Given the description of an element on the screen output the (x, y) to click on. 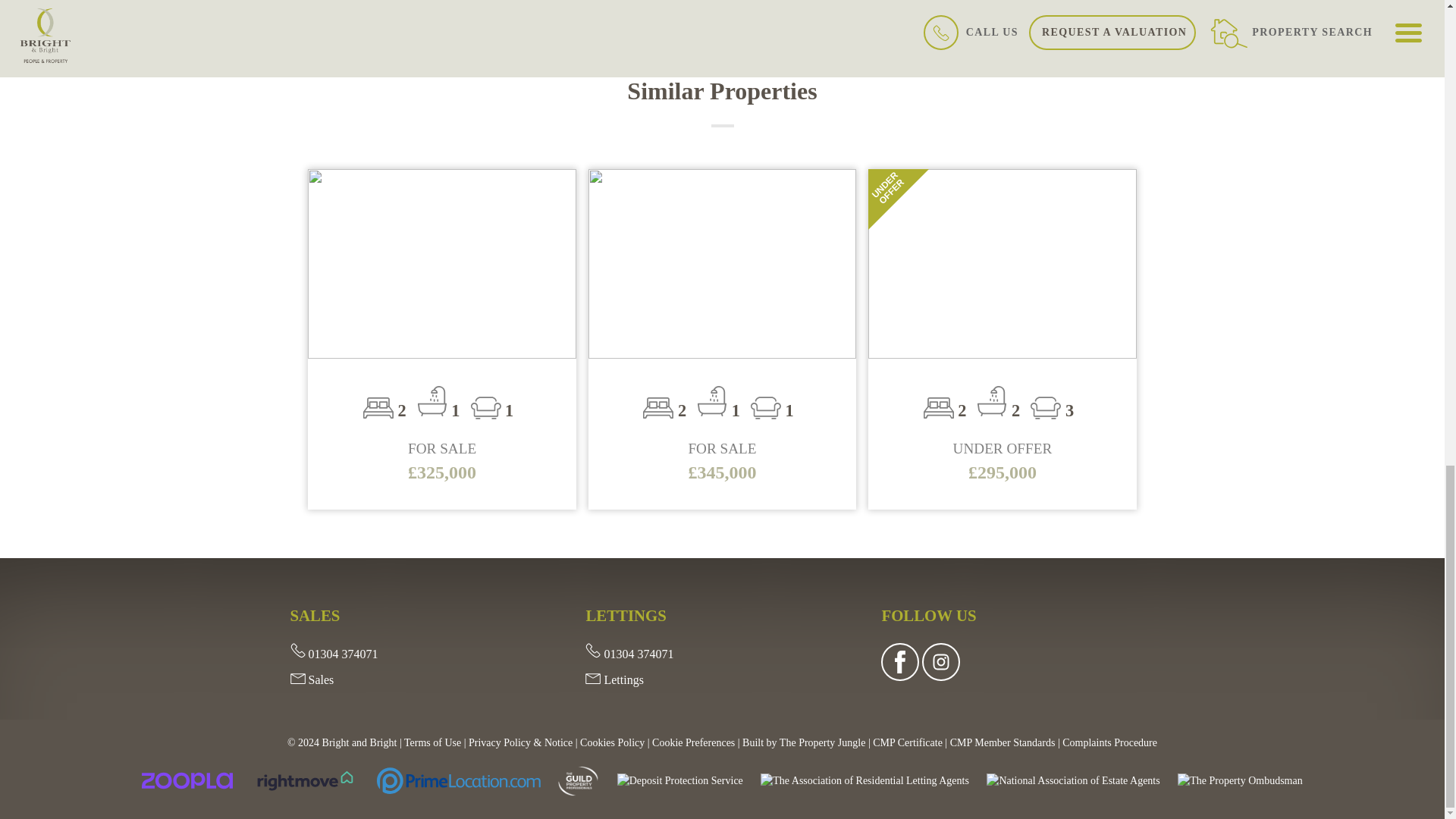
01304 374071 (333, 653)
Privacy Policy (520, 742)
REGISTER FOR PROPERTY UPDATES (1054, 16)
Sales (311, 679)
Terms of Use (432, 742)
01304 374071 (628, 653)
